Given the description of an element on the screen output the (x, y) to click on. 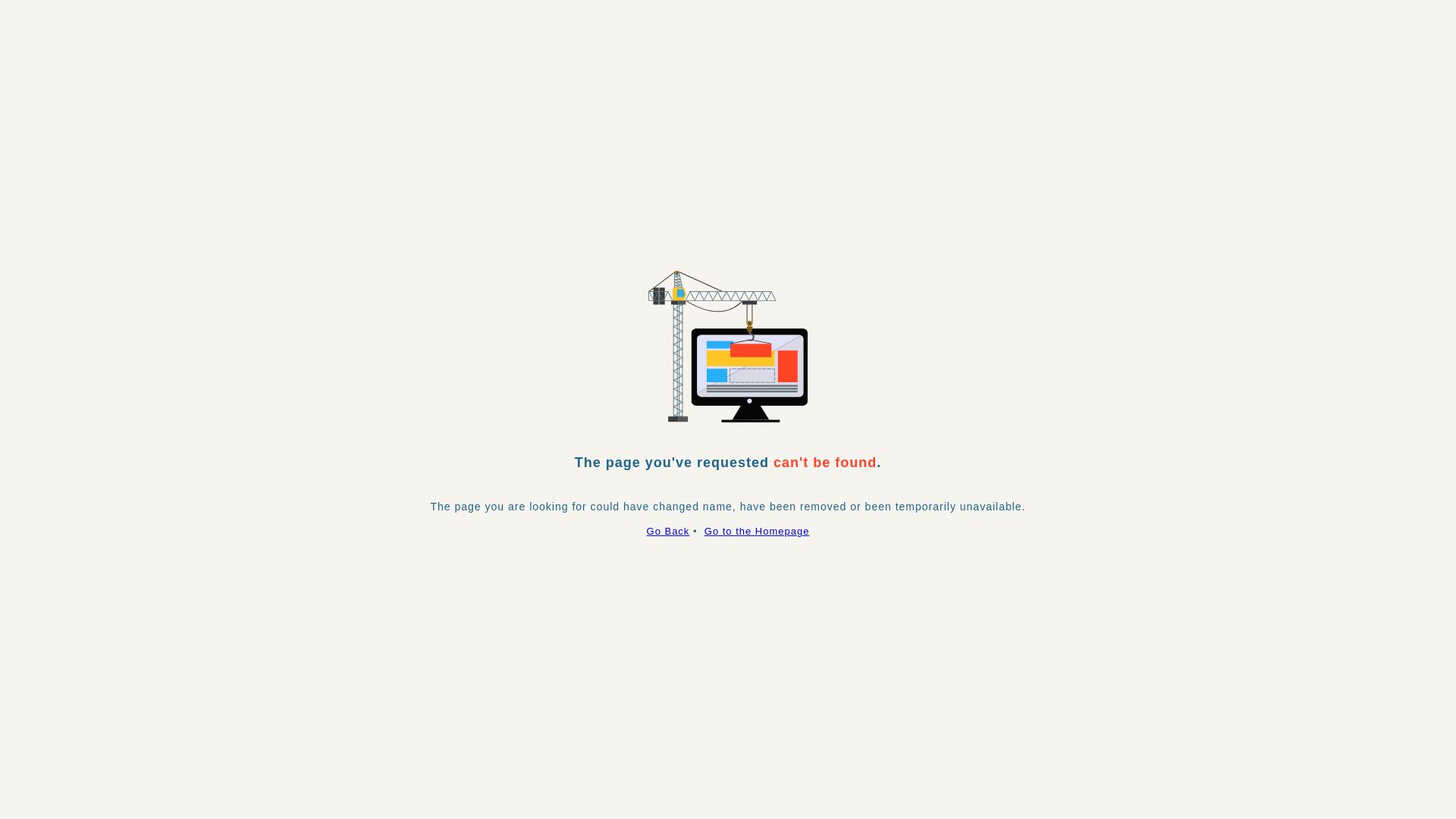
Go Back Element type: text (668, 530)
Go to the Homepage Element type: text (756, 530)
